Given the description of an element on the screen output the (x, y) to click on. 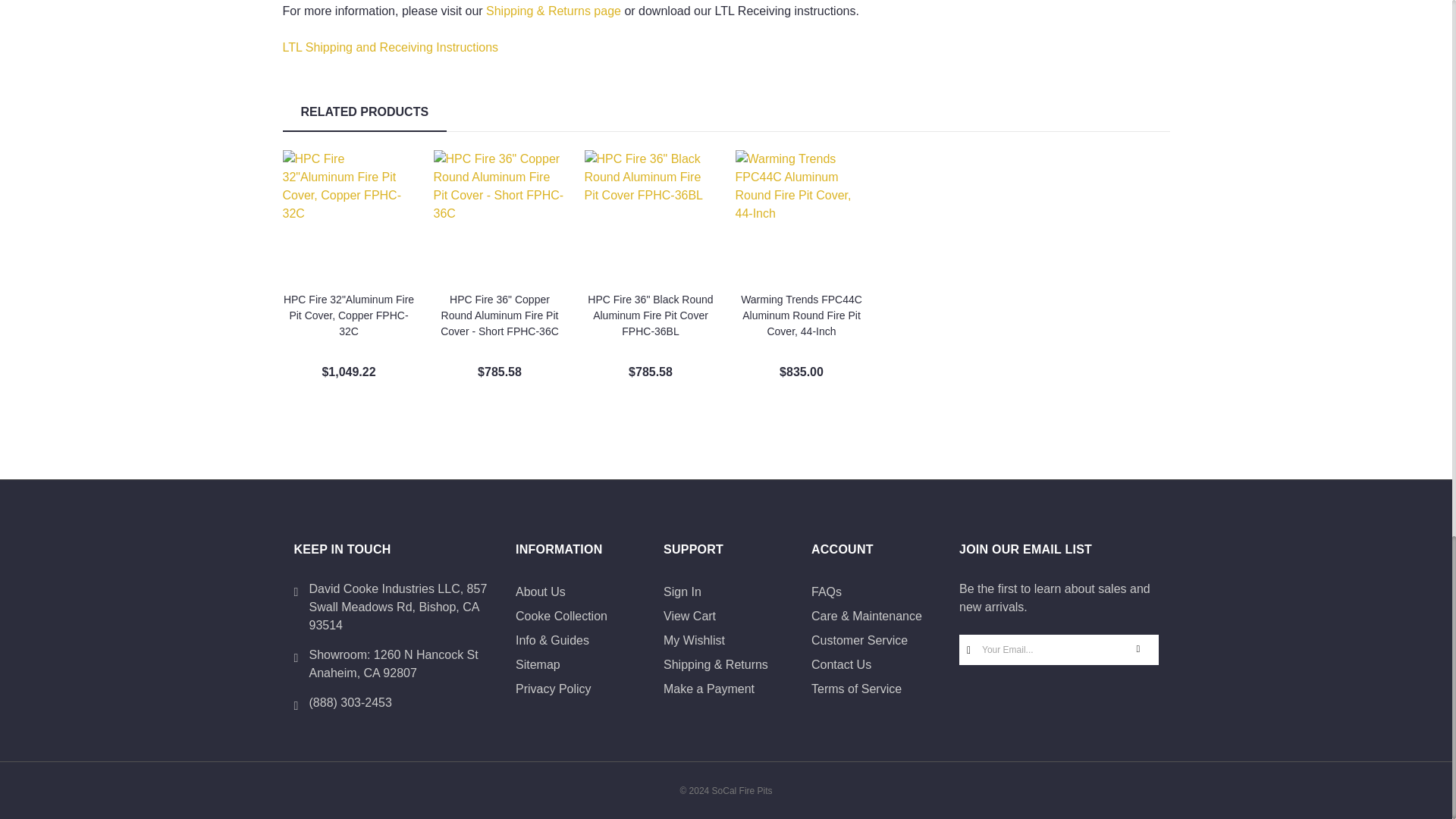
HPC Fire 32"Aluminum Fire Pit Cover, Copper FPHC-32C (348, 215)
HPC Fire 36" Black Round Aluminum Fire Pit Cover FPHC-36BL (649, 215)
Warming Trends FPC44C Aluminum Round Fire Pit Cover, 44-Inch (801, 215)
